Given the description of an element on the screen output the (x, y) to click on. 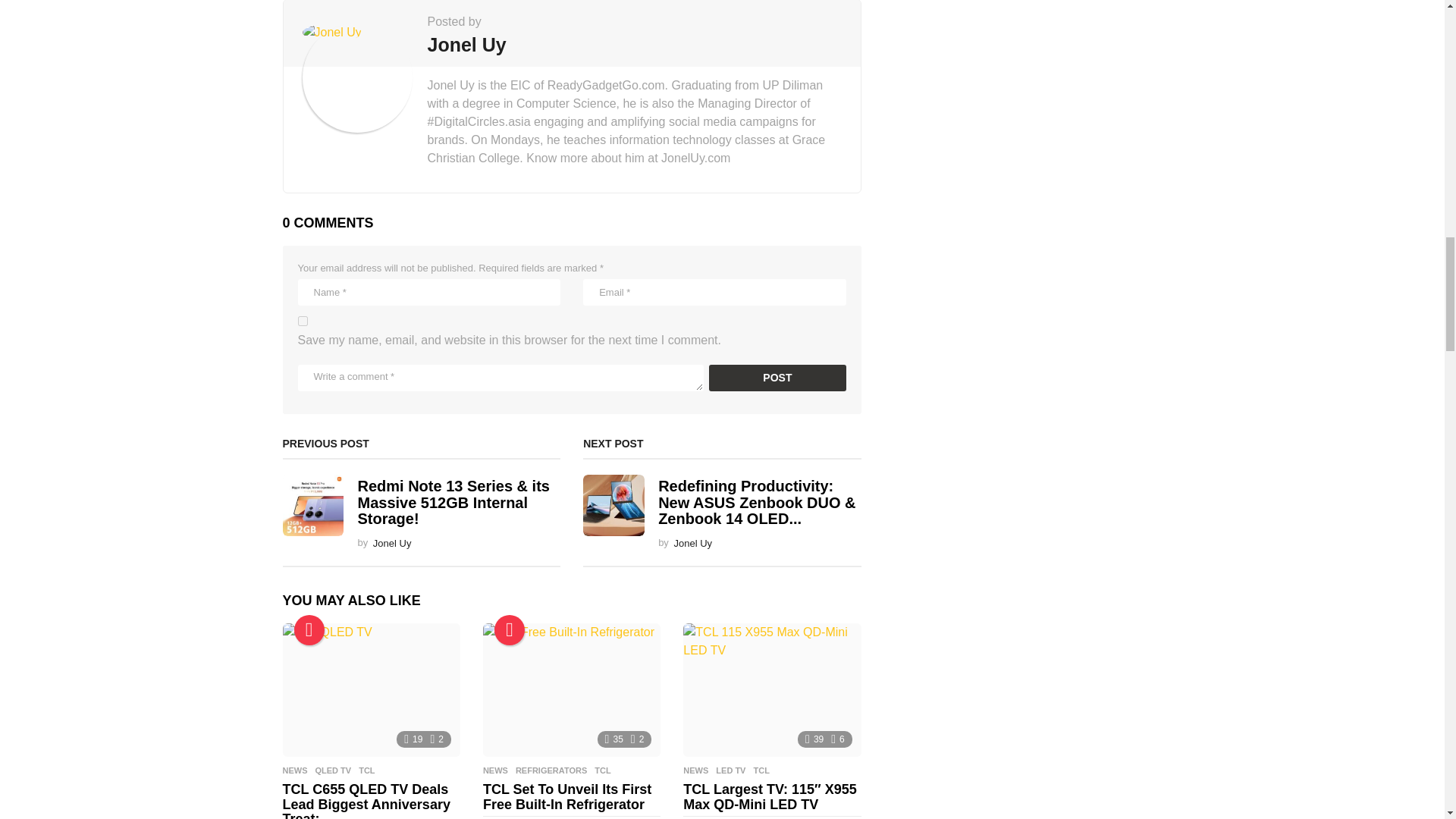
TCL Set To Unveil Its First Free Built-In Refrigerator (572, 689)
Post (777, 377)
yes (302, 320)
Hot (309, 630)
Hot (509, 630)
TCL C655 QLED TV Deals Lead Biggest Anniversary Treat: (371, 689)
Jonel Uy (467, 44)
